Given the description of an element on the screen output the (x, y) to click on. 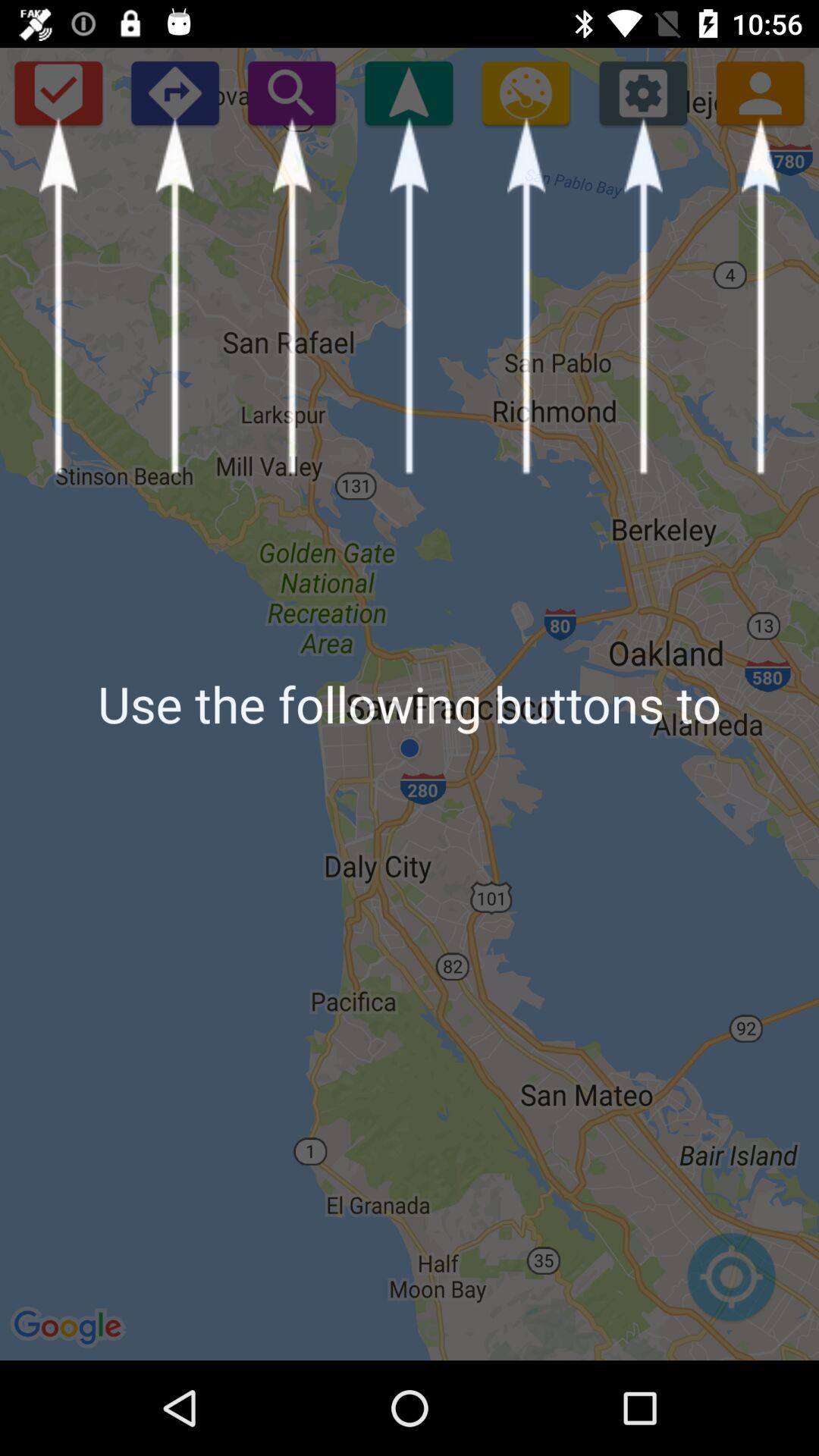
get directions (174, 92)
